Given the description of an element on the screen output the (x, y) to click on. 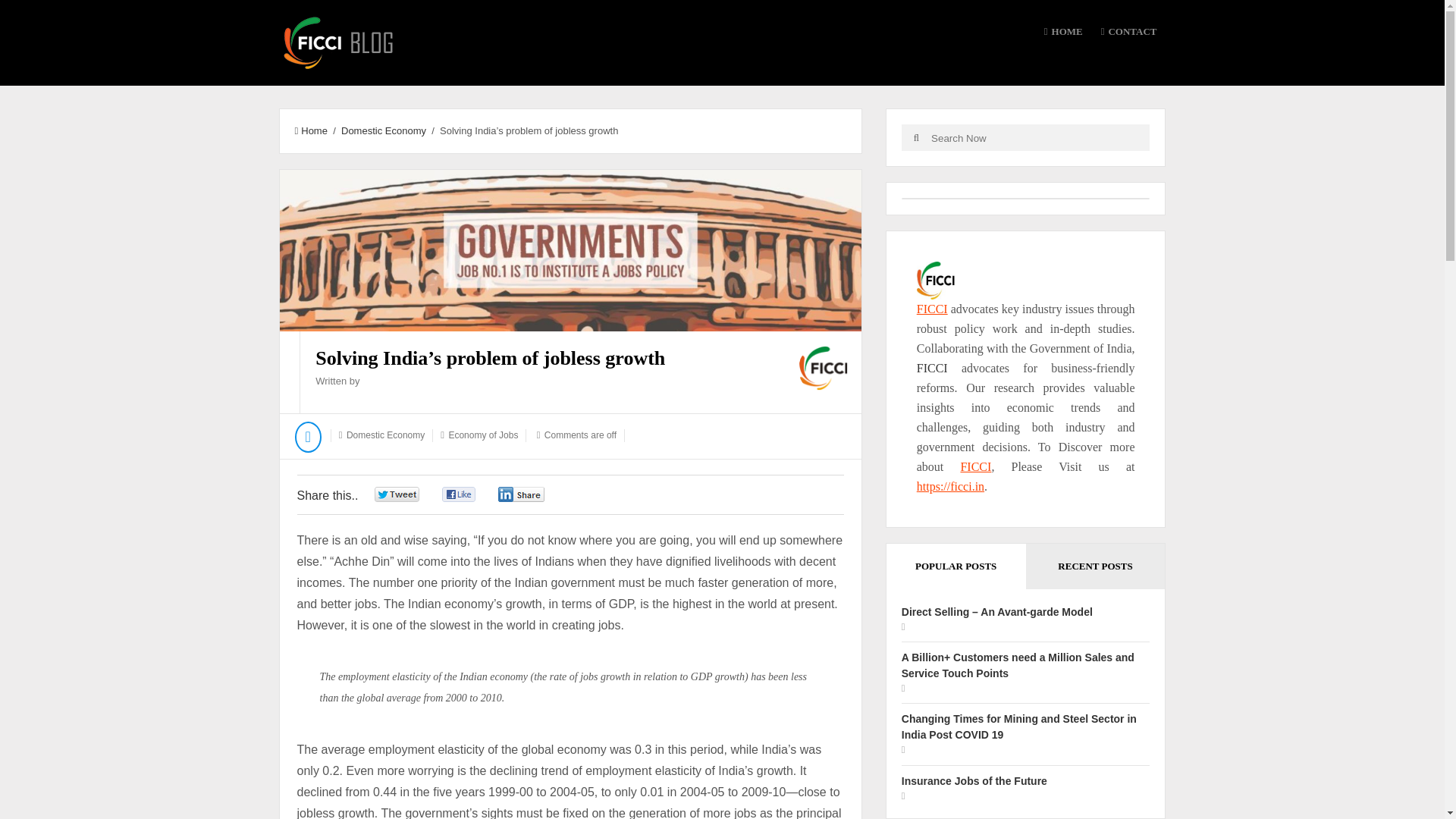
RECENT POSTS (1096, 565)
Domestic Economy (385, 434)
Economy of Jobs (483, 434)
Home (310, 130)
POPULAR POSTS (956, 565)
FICCI (932, 308)
Domestic Economy (383, 130)
CONTACT (1128, 31)
Search (916, 137)
Be the first one to tweet this article! (412, 494)
Insurance Jobs of the Future (973, 780)
FICCI (932, 367)
FICCI (975, 466)
HOME (1063, 31)
